Given the description of an element on the screen output the (x, y) to click on. 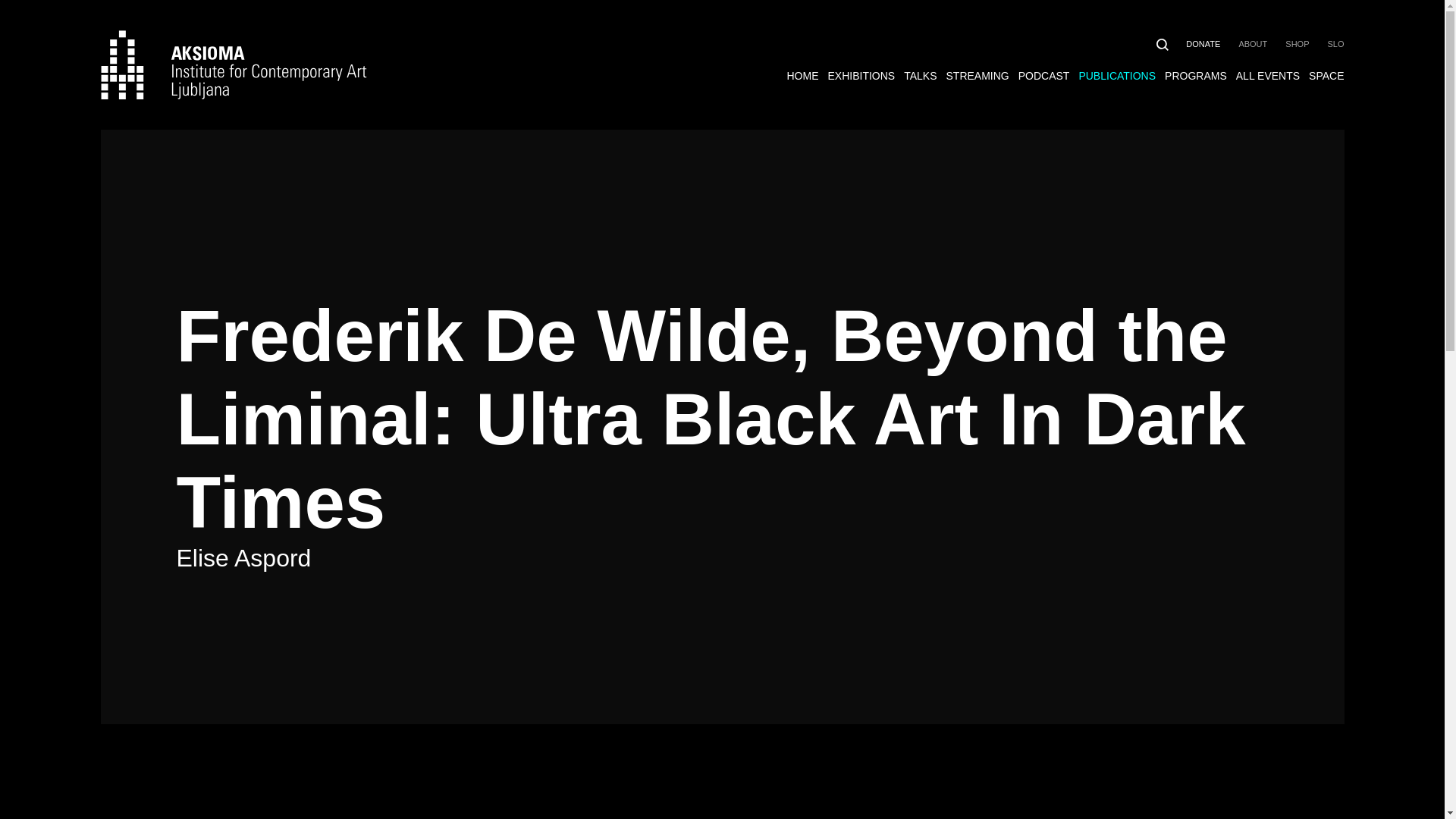
HOME (803, 75)
TALKS (919, 75)
SLO (1334, 43)
Aksioma (233, 64)
SPACE (1326, 75)
EXHIBITIONS (861, 75)
STREAMING (977, 75)
PODCAST (1043, 75)
PUBLICATIONS (1117, 75)
DONATE (1202, 43)
